Given the description of an element on the screen output the (x, y) to click on. 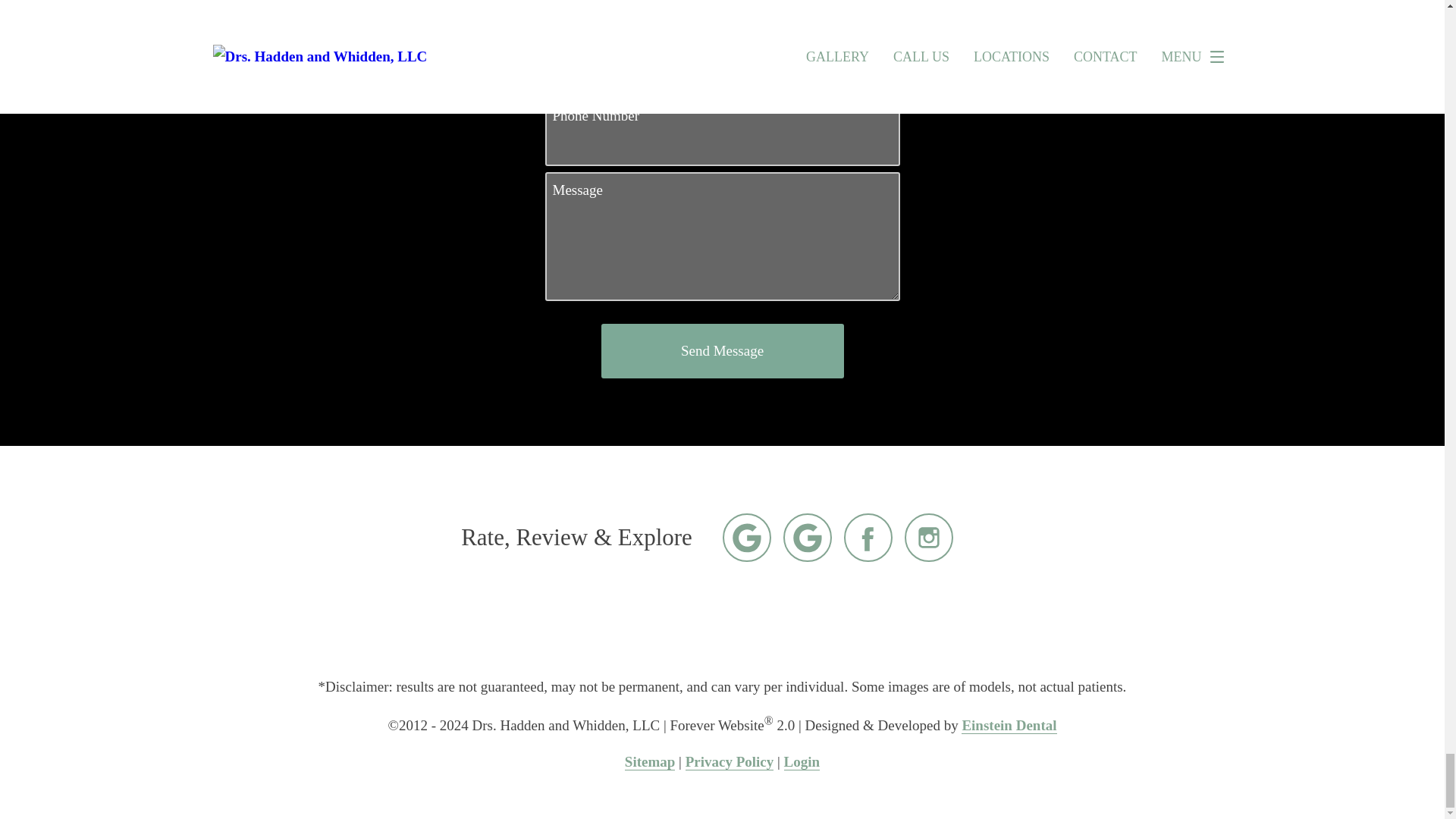
Google (807, 537)
Instagram (928, 537)
Facebook (868, 537)
Google (746, 537)
